Given the description of an element on the screen output the (x, y) to click on. 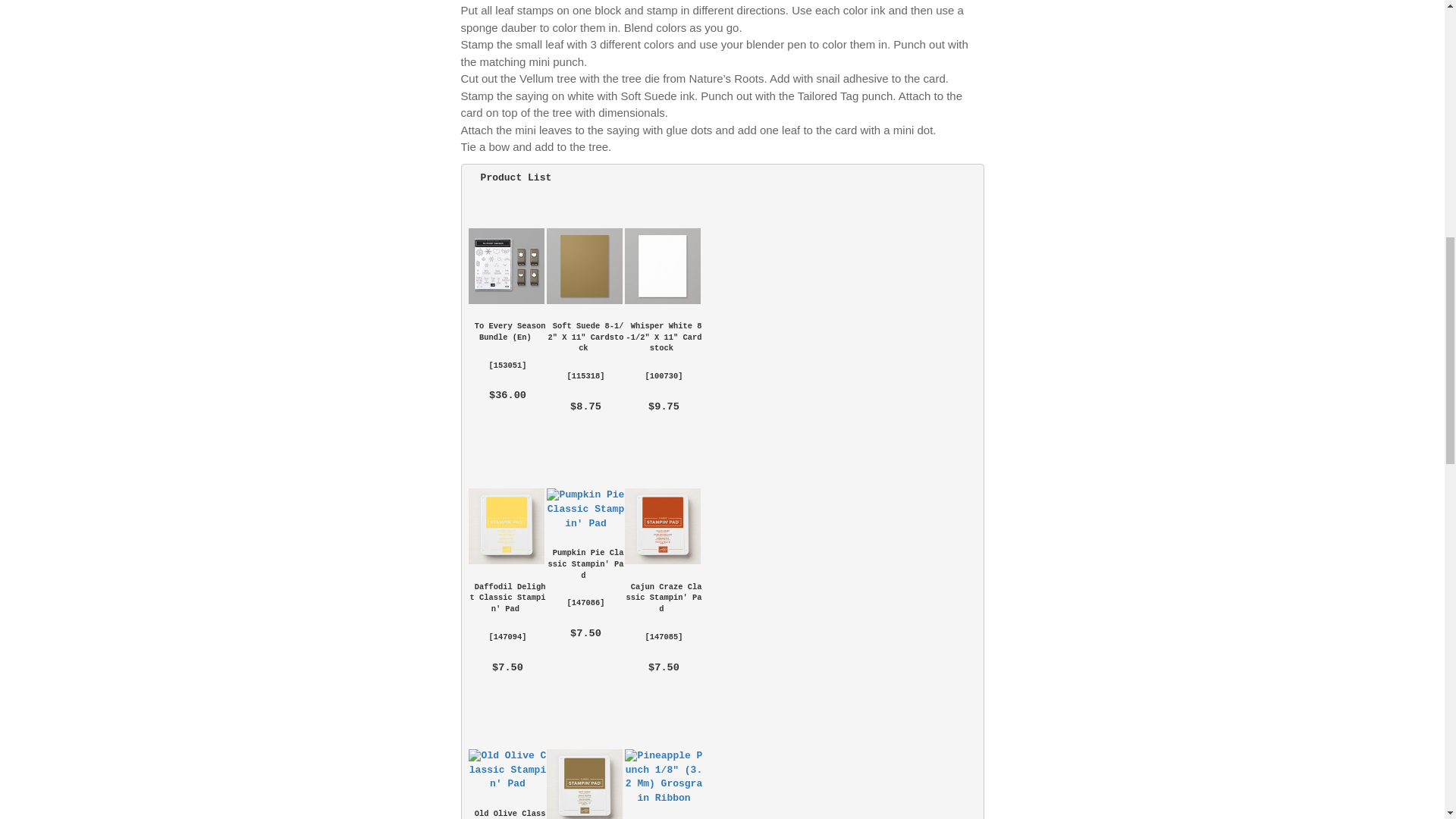
115318 (585, 375)
Daffodil Delight Classic Stampin' Pad (506, 526)
147086 (585, 602)
153051 (507, 365)
100730 (663, 375)
Pumpkin Pie Classic Stampin' Pad (586, 563)
147094 (507, 636)
Daffodil Delight Classic Stampin' Pad (508, 597)
147085 (663, 636)
Old Olive Classic Stampin' Pad (508, 814)
